Given the description of an element on the screen output the (x, y) to click on. 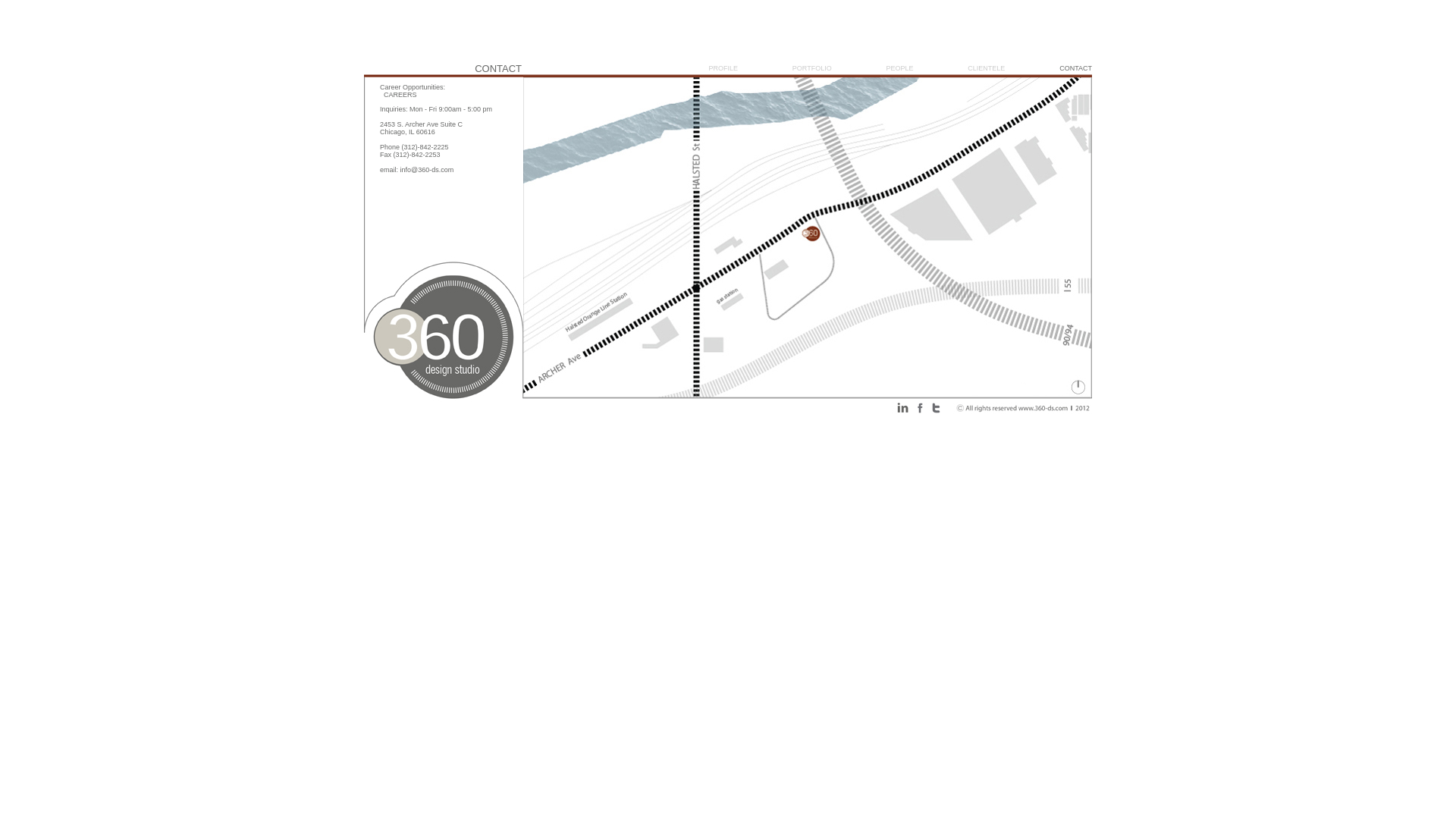
CLIENTELE Element type: text (985, 68)
CONTACT Element type: text (445, 68)
PEOPLE Element type: text (899, 68)
PROFILE Element type: text (723, 68)
CAREERS Element type: text (400, 94)
PORTFOLIO Element type: text (811, 68)
CONTACT Element type: text (1075, 68)
